Given the description of an element on the screen output the (x, y) to click on. 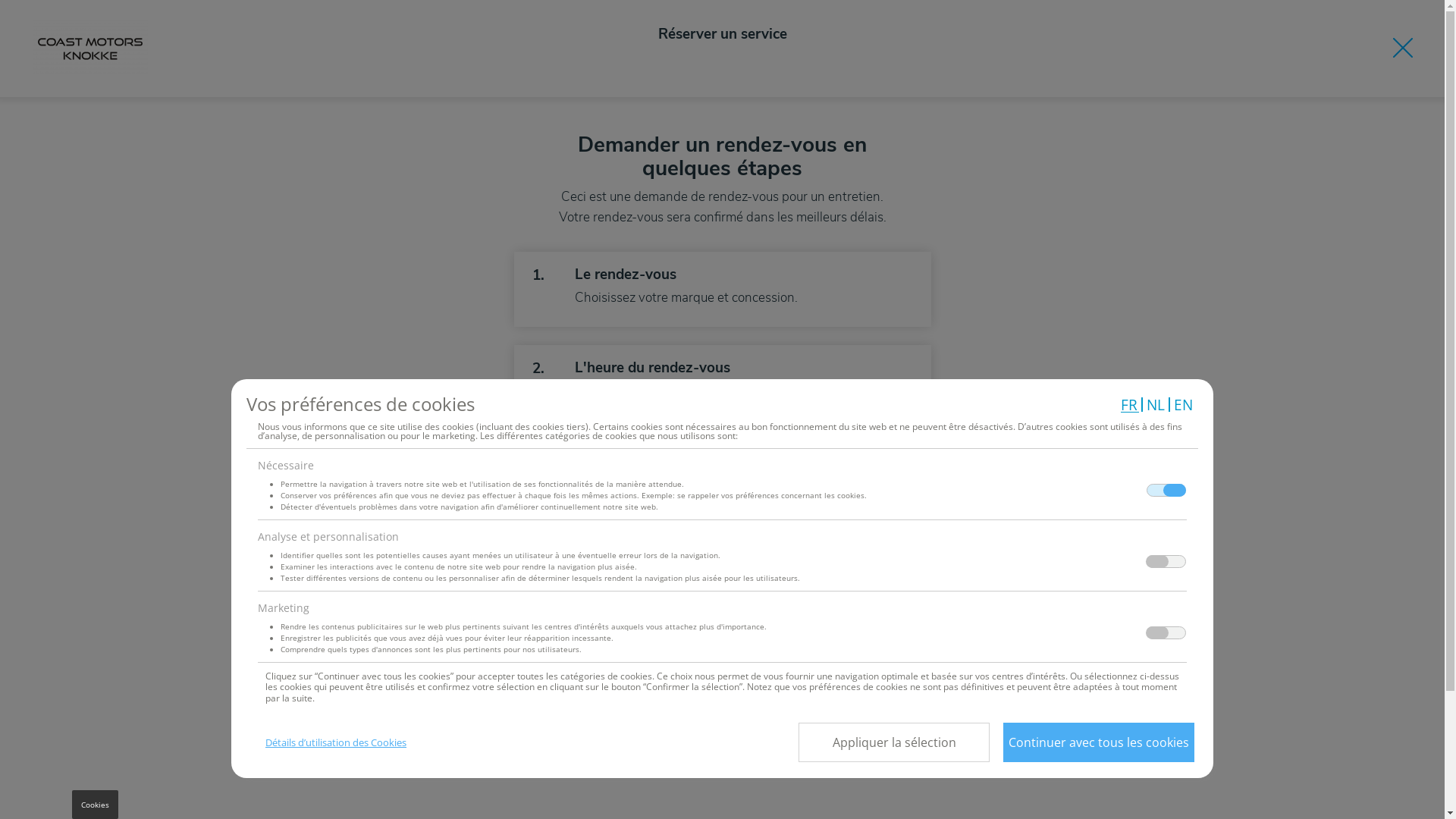
FR Element type: text (1129, 404)
NL Element type: text (1156, 404)
EN Element type: text (1183, 404)
Aller au contenu principal Element type: text (0, 0)
Continuer avec tous les cookies Element type: text (1098, 742)
